Given the description of an element on the screen output the (x, y) to click on. 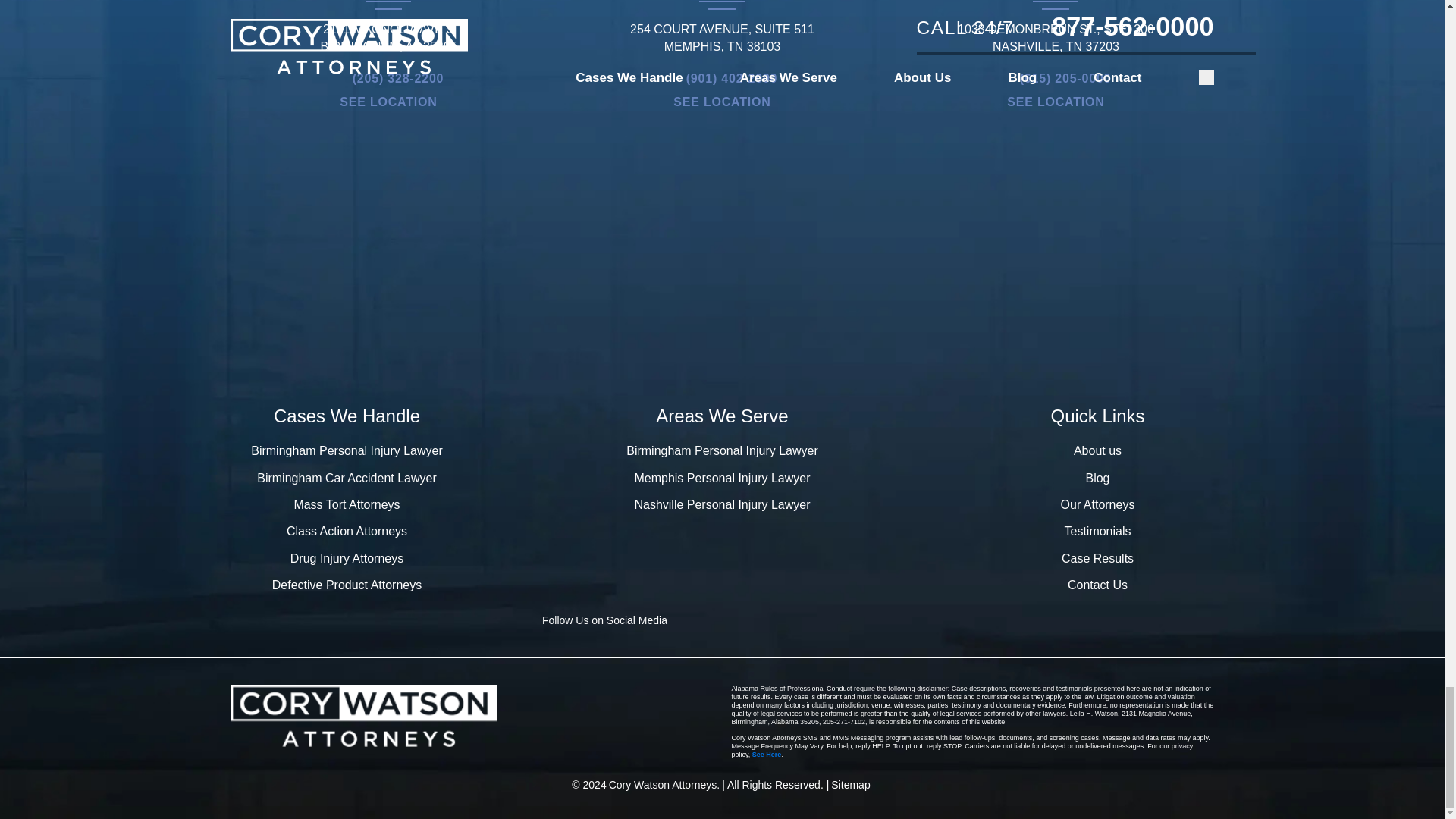
Linkedin (828, 620)
Call to Cory Watson Attorneys (1056, 78)
Twitter (779, 620)
Instagram (876, 620)
Cory Watson Attorneys (664, 785)
Nashville Office Directions (1055, 102)
Cory Watson Attorneys (363, 715)
Call to Cory Watson Attorneys (721, 78)
Memphis Office Directions (721, 102)
Facebook (729, 620)
